Given the description of an element on the screen output the (x, y) to click on. 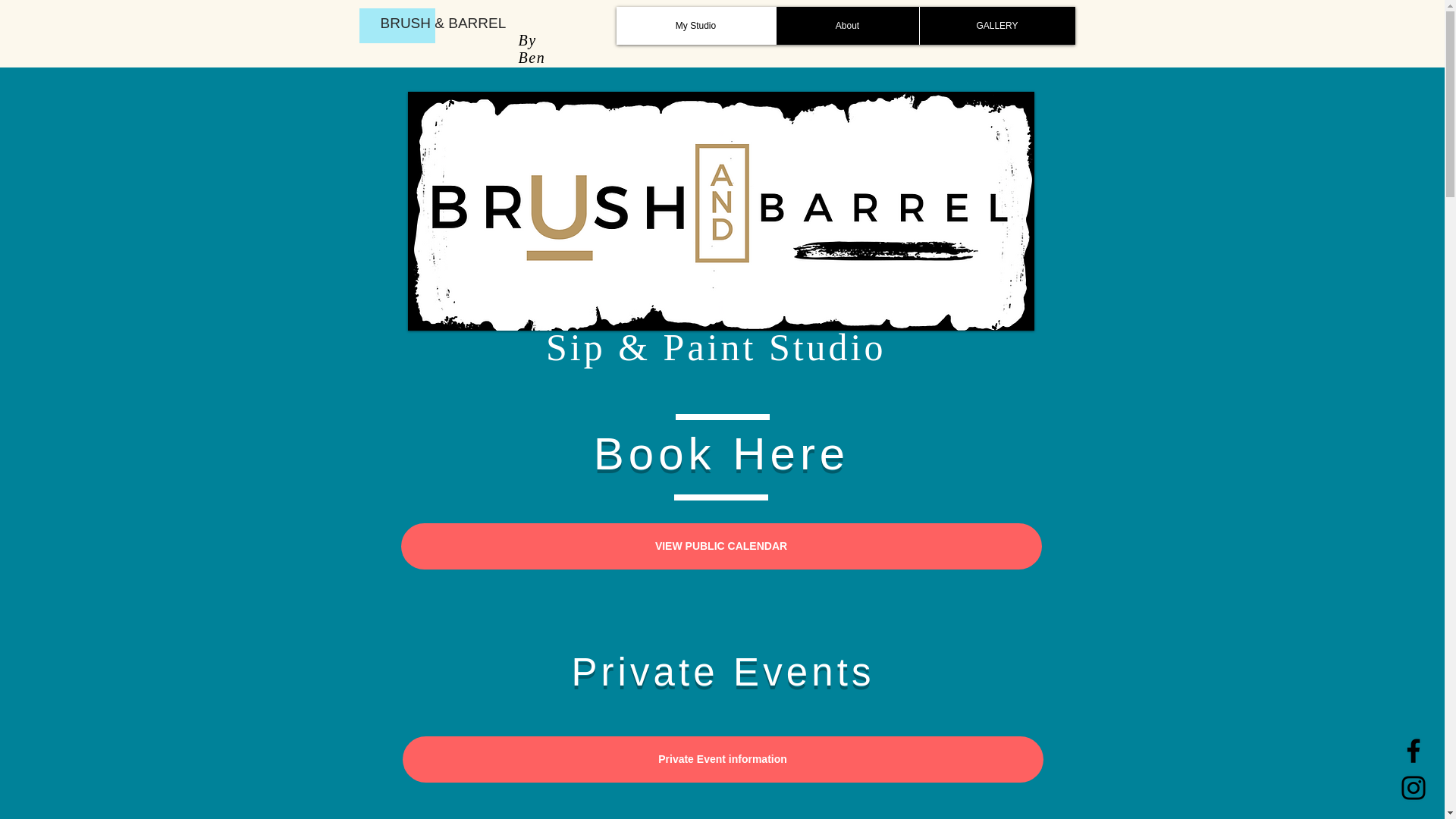
Book Here (721, 454)
VIEW PUBLIC CALENDAR (720, 546)
About (846, 25)
My Studio (694, 25)
GALLERY (996, 25)
Private Events (722, 672)
Private Event information (721, 759)
